Given the description of an element on the screen output the (x, y) to click on. 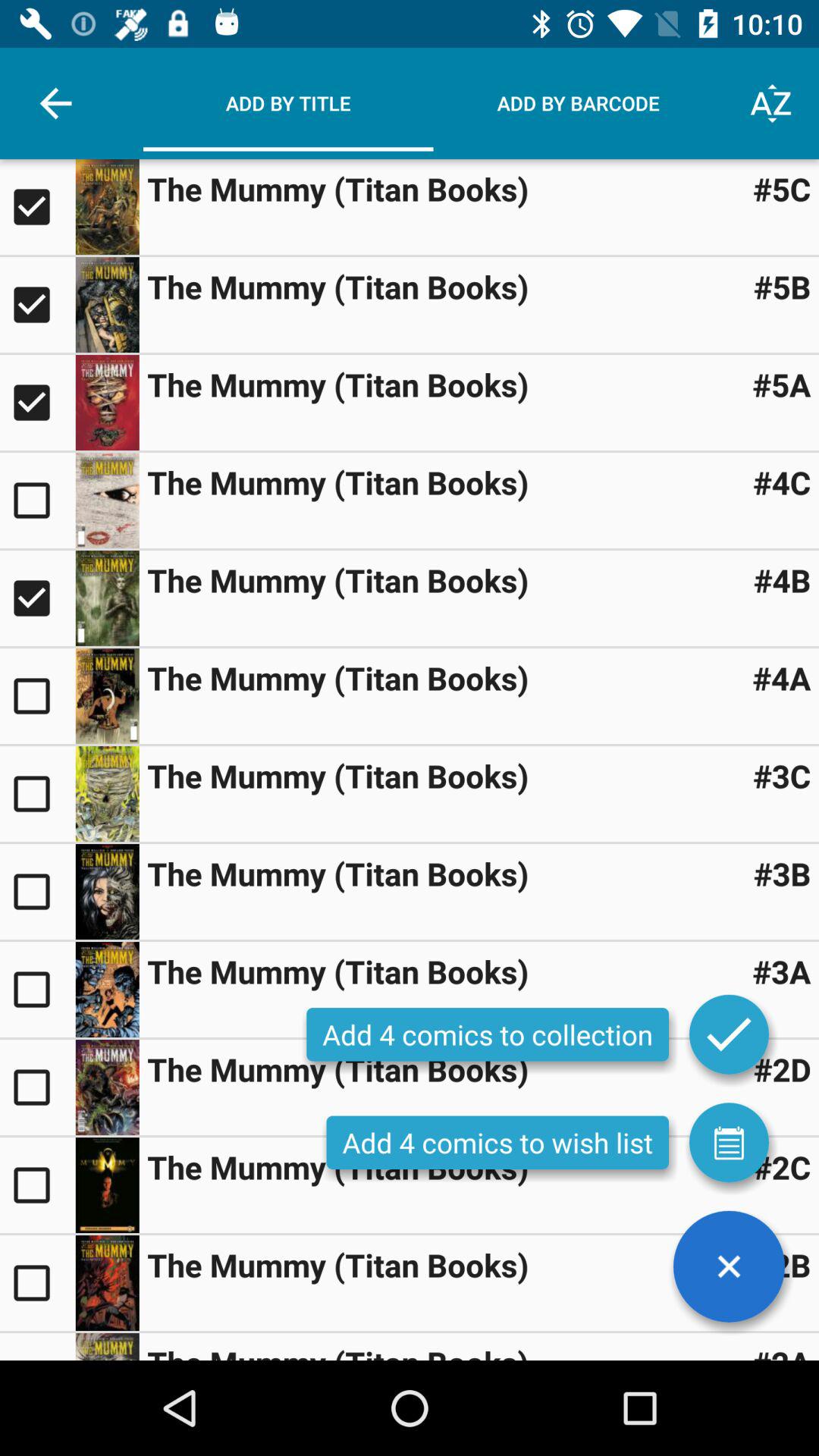
open the #5a icon (781, 384)
